Given the description of an element on the screen output the (x, y) to click on. 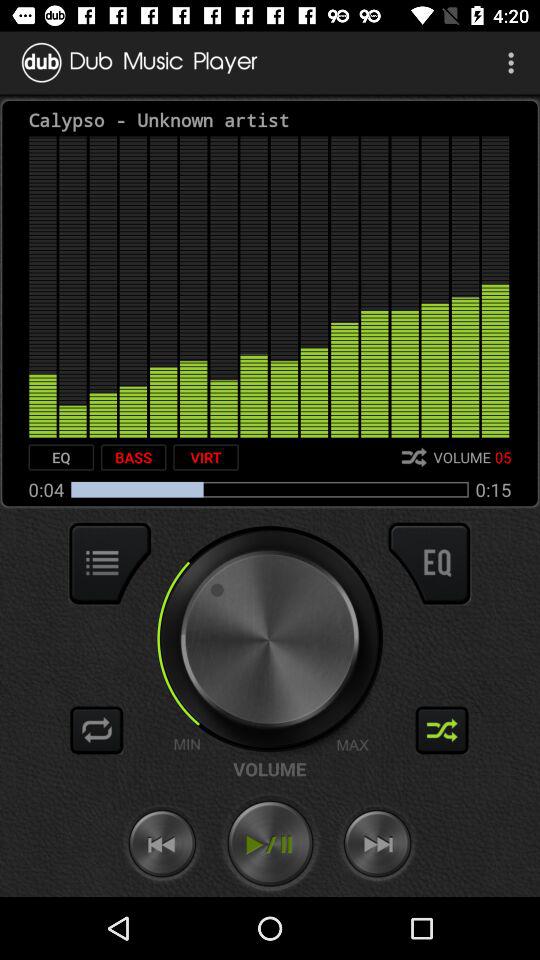
shuffle audio files (442, 730)
